Given the description of an element on the screen output the (x, y) to click on. 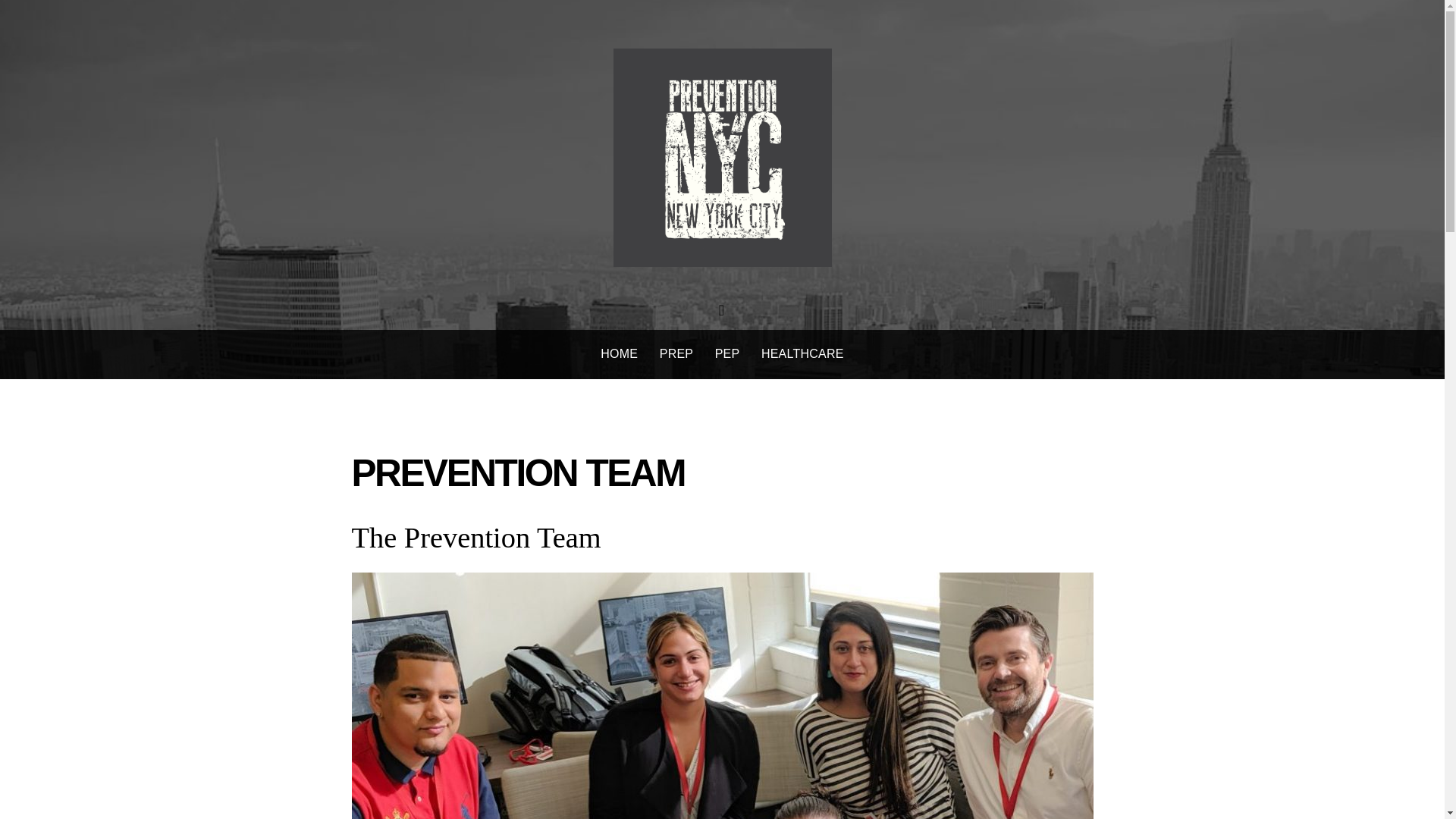
grit (721, 157)
The Prevention Team (476, 537)
PREVENTION NYC (721, 251)
HEALTHCARE (802, 354)
